Given the description of an element on the screen output the (x, y) to click on. 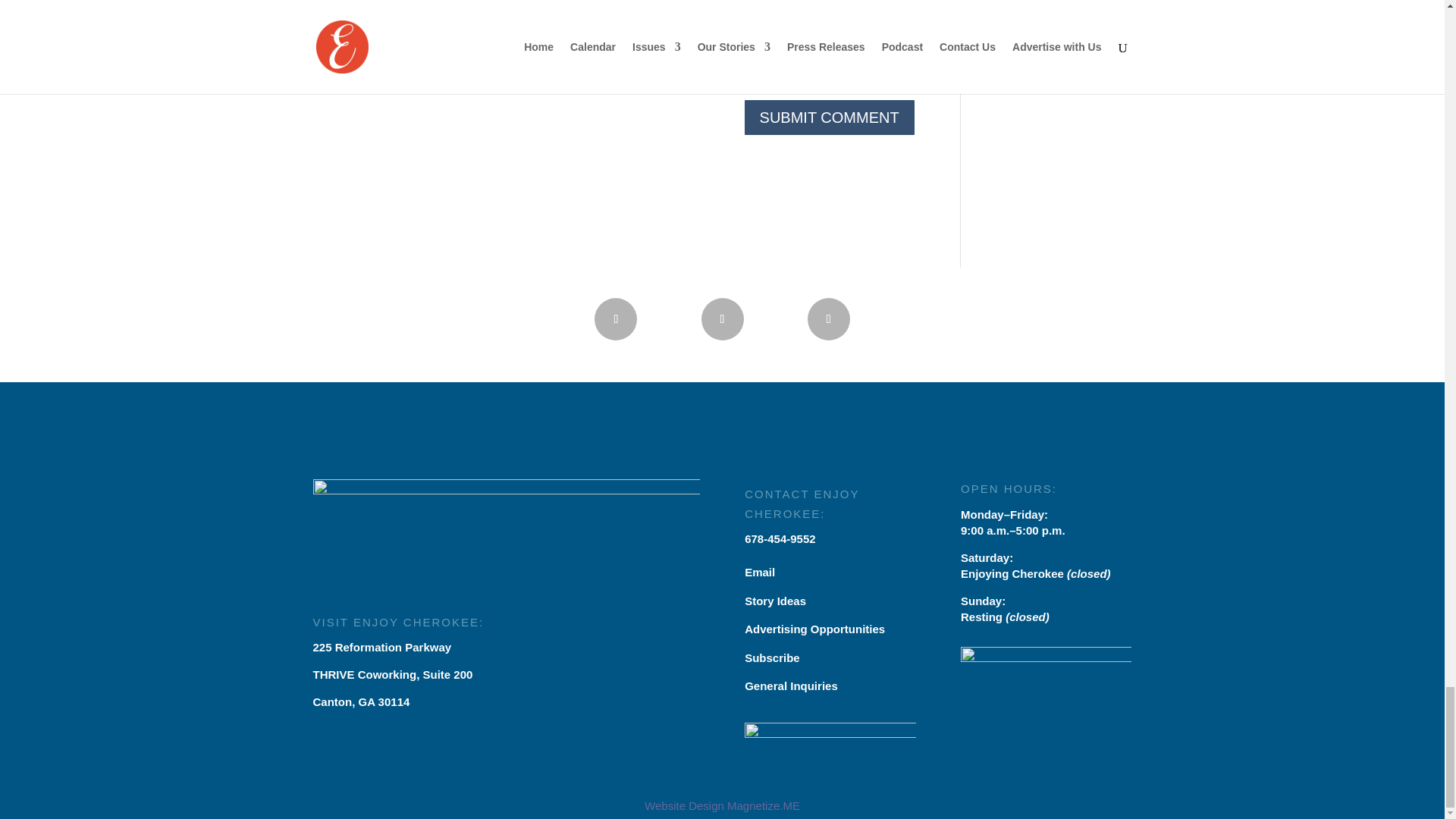
Follow on LinkedIn (829, 319)
Follow on Instagram (721, 319)
Follow on Facebook (615, 319)
yes (319, 76)
GAB-Logo (829, 746)
Submit Comment (828, 117)
